Given the description of an element on the screen output the (x, y) to click on. 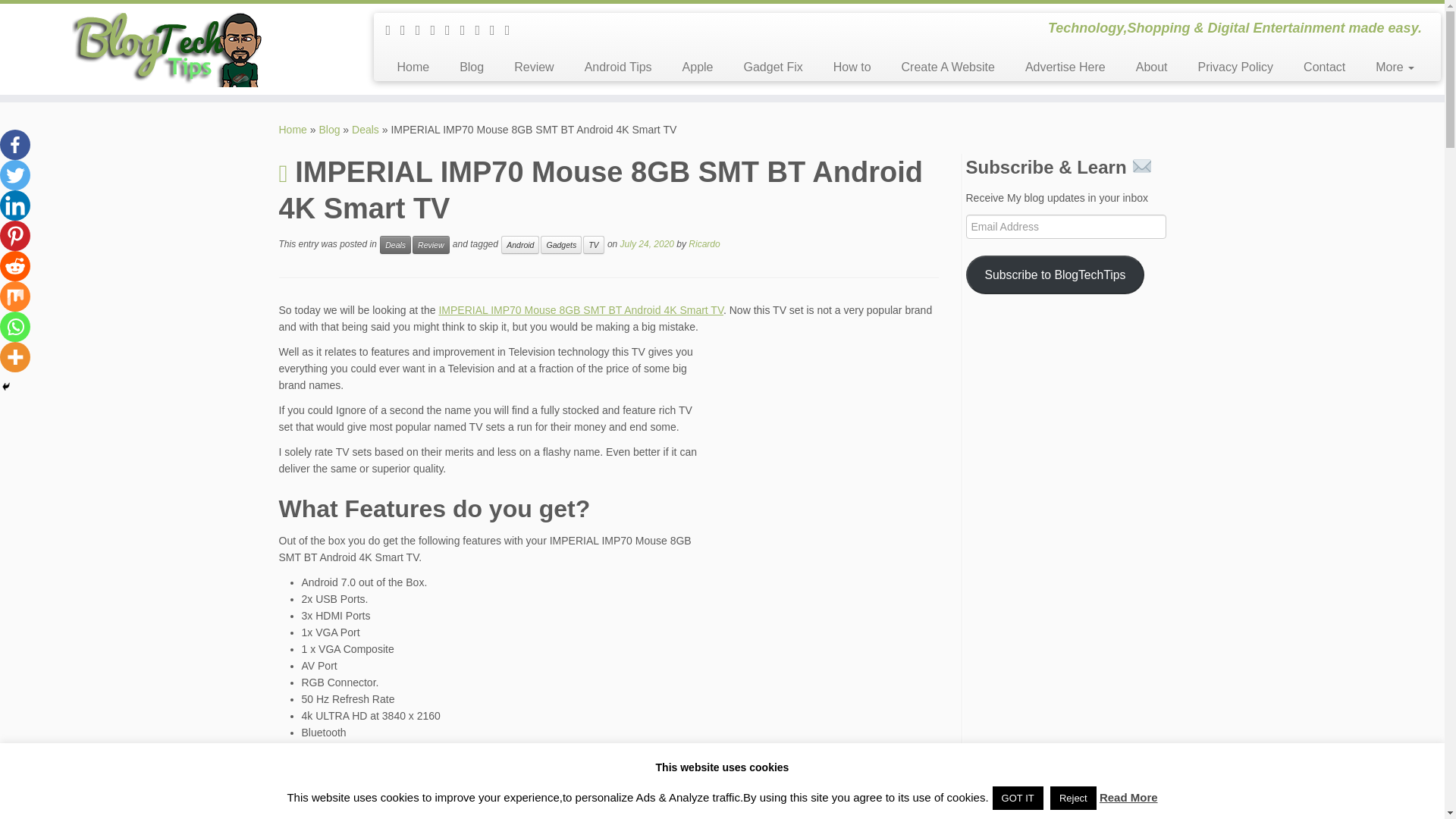
View all posts in Android (519, 244)
View all posts in Review (430, 244)
Home (293, 129)
Review (534, 67)
Review (430, 244)
Deals (365, 129)
BlogTechTips (293, 129)
Deals (365, 129)
Follow me on LinkedIn (512, 29)
Blog (328, 129)
Contact (1323, 67)
Apple (697, 67)
Privacy Policy (1235, 67)
Follow me on Instagram (452, 29)
Gadgets (560, 244)
